Given the description of an element on the screen output the (x, y) to click on. 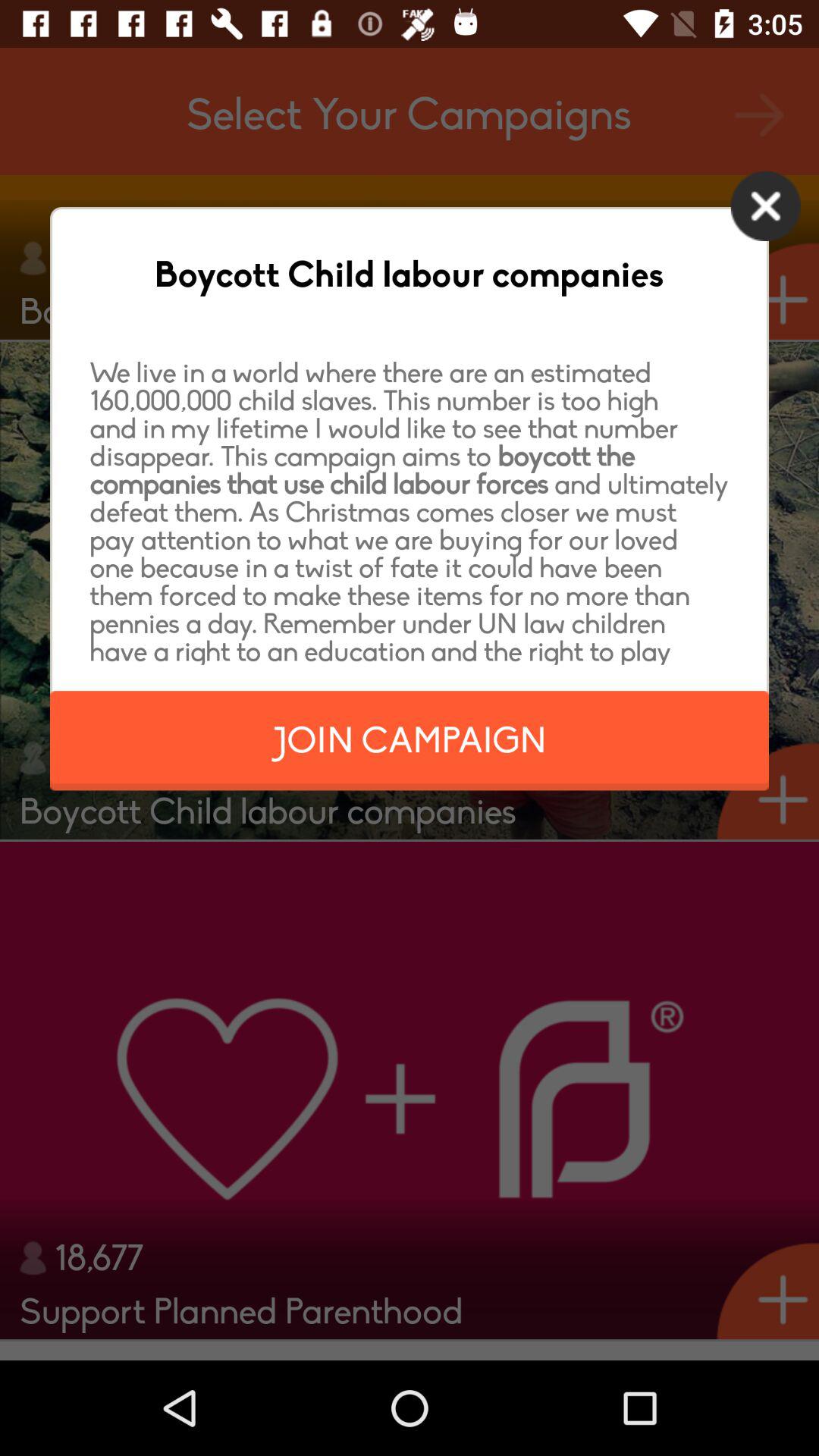
choose the icon to the right of the boycott child labour (765, 206)
